Given the description of an element on the screen output the (x, y) to click on. 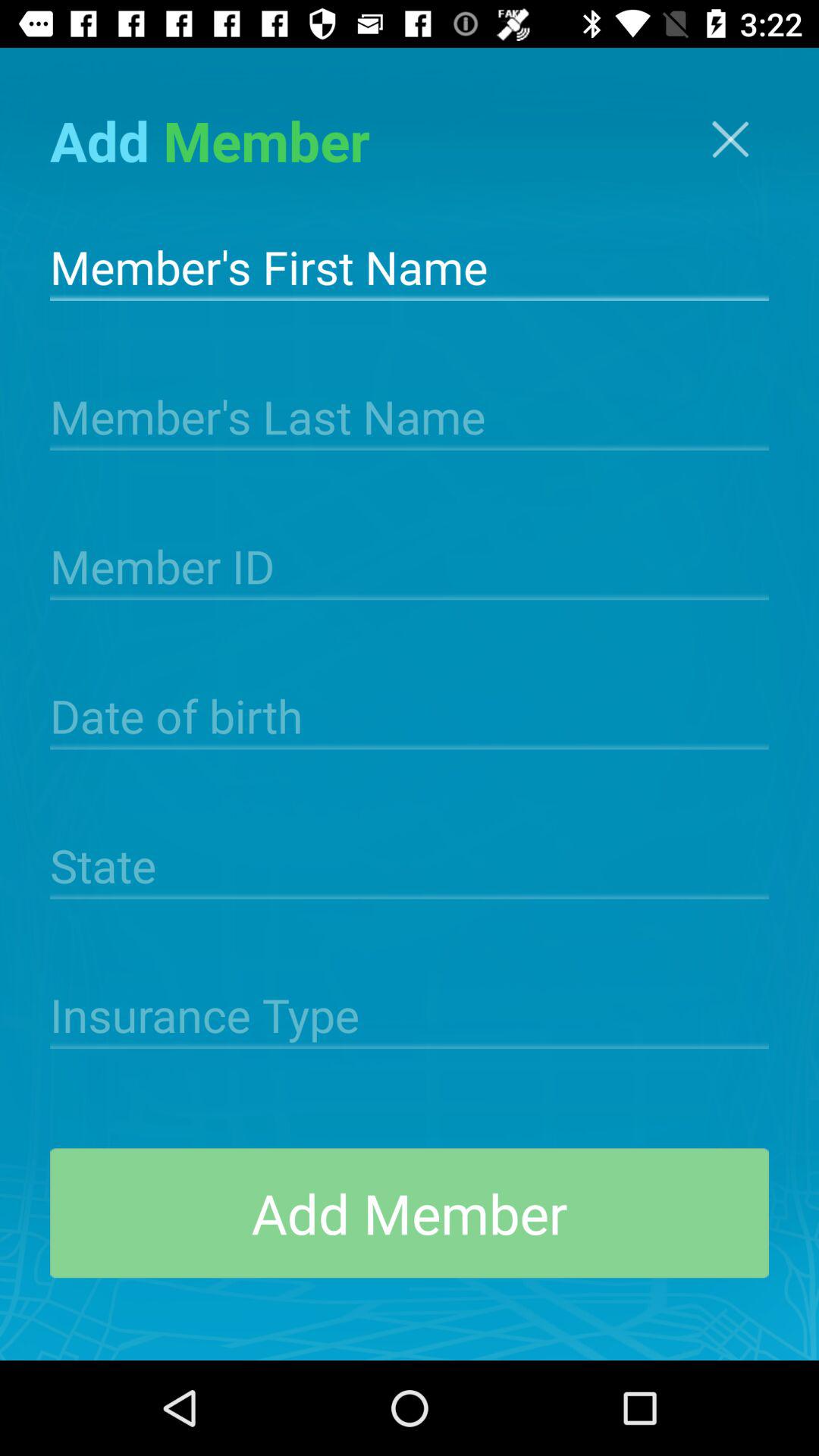
close the screen (730, 139)
